Given the description of an element on the screen output the (x, y) to click on. 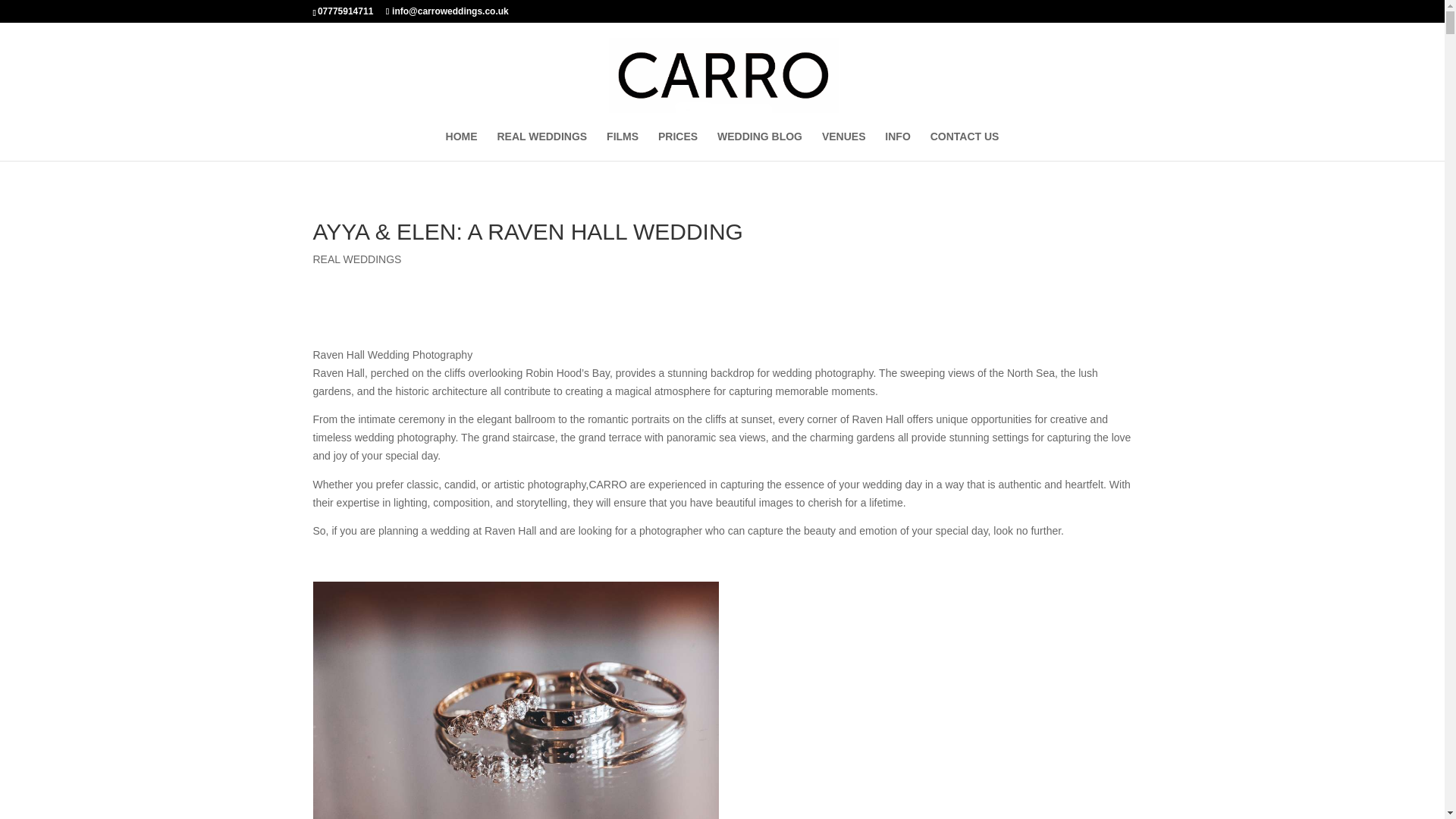
REAL WEDDINGS (357, 259)
080623 Ayya and Elen Raven Hall Photos Socials Web-1 (515, 700)
HOME (461, 145)
PRICES (677, 145)
FILMS (623, 145)
CONTACT US (964, 145)
WEDDING BLOG (759, 145)
REAL WEDDINGS (541, 145)
VENUES (844, 145)
